Given the description of an element on the screen output the (x, y) to click on. 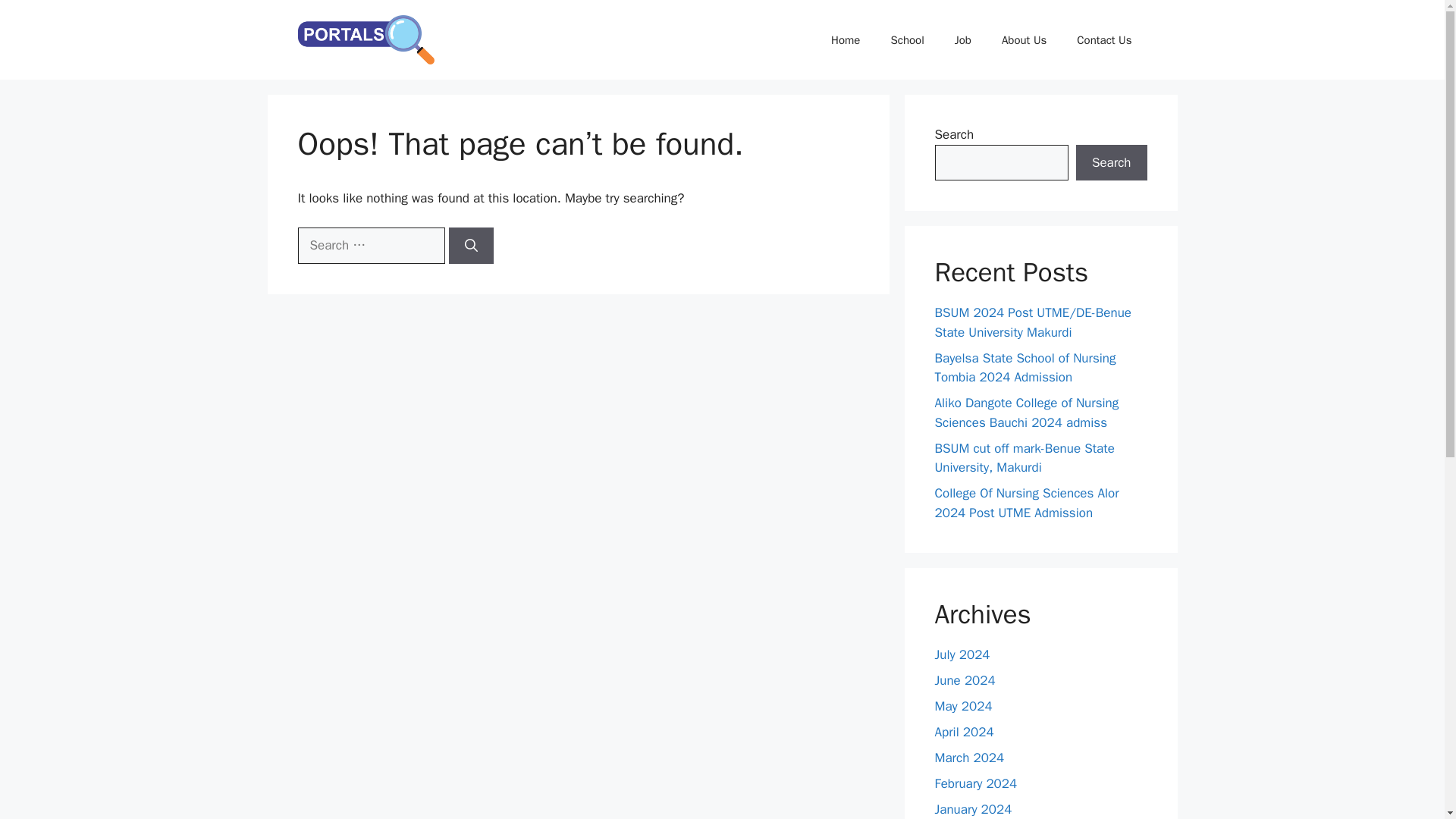
Aliko Dangote College of Nursing Sciences Bauchi 2024 admiss (1026, 412)
BSUM cut off mark-Benue State University, Makurdi (1023, 457)
School (907, 40)
Search (1111, 162)
May 2024 (962, 706)
March 2024 (969, 757)
June 2024 (964, 680)
Job (963, 40)
July 2024 (962, 654)
Contact Us (1104, 40)
April 2024 (963, 731)
College Of Nursing Sciences Alor 2024 Post UTME Admission (1026, 502)
February 2024 (975, 783)
Home (845, 40)
January 2024 (972, 809)
